Given the description of an element on the screen output the (x, y) to click on. 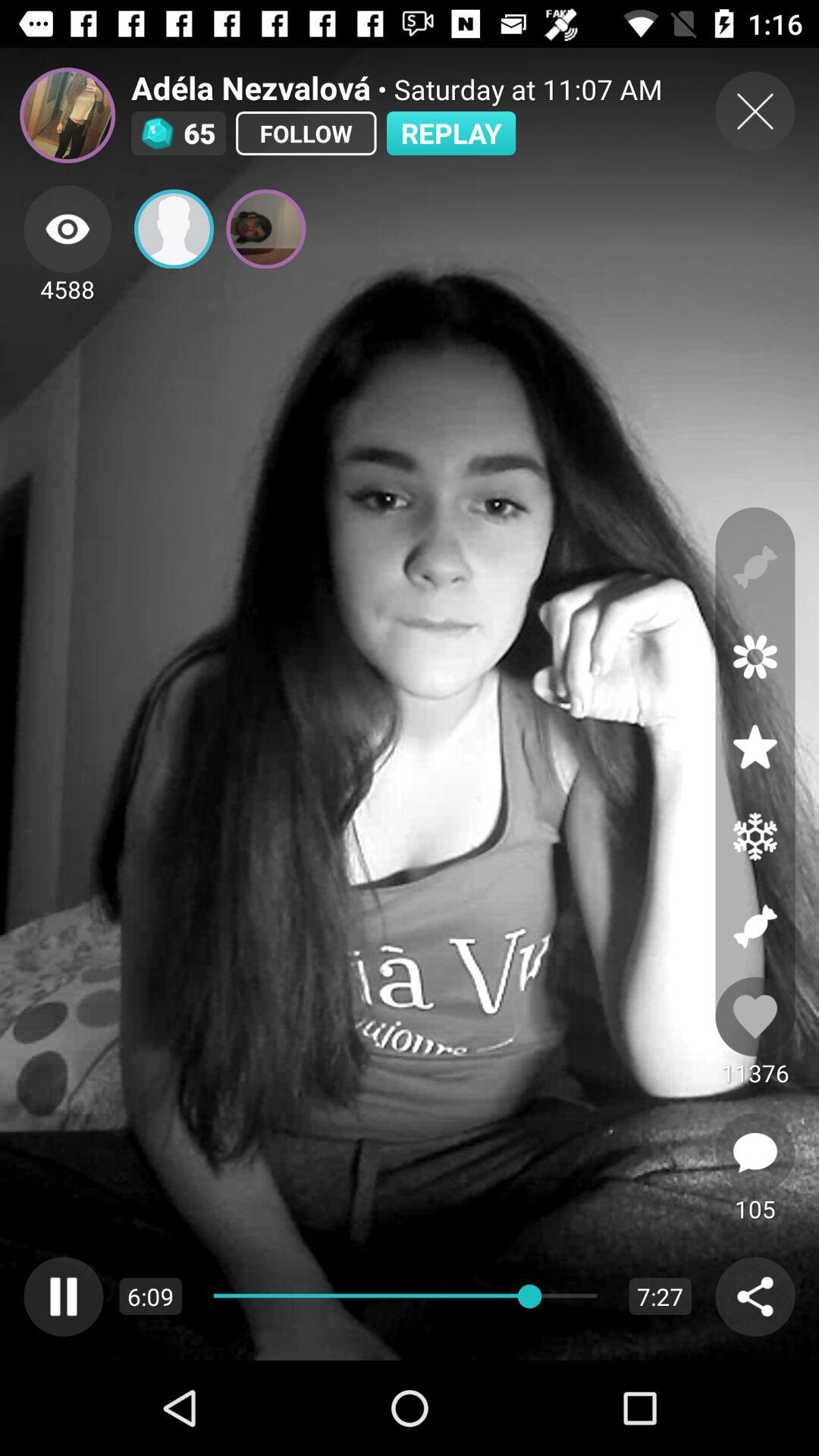
go to like button (755, 1016)
